Given the description of an element on the screen output the (x, y) to click on. 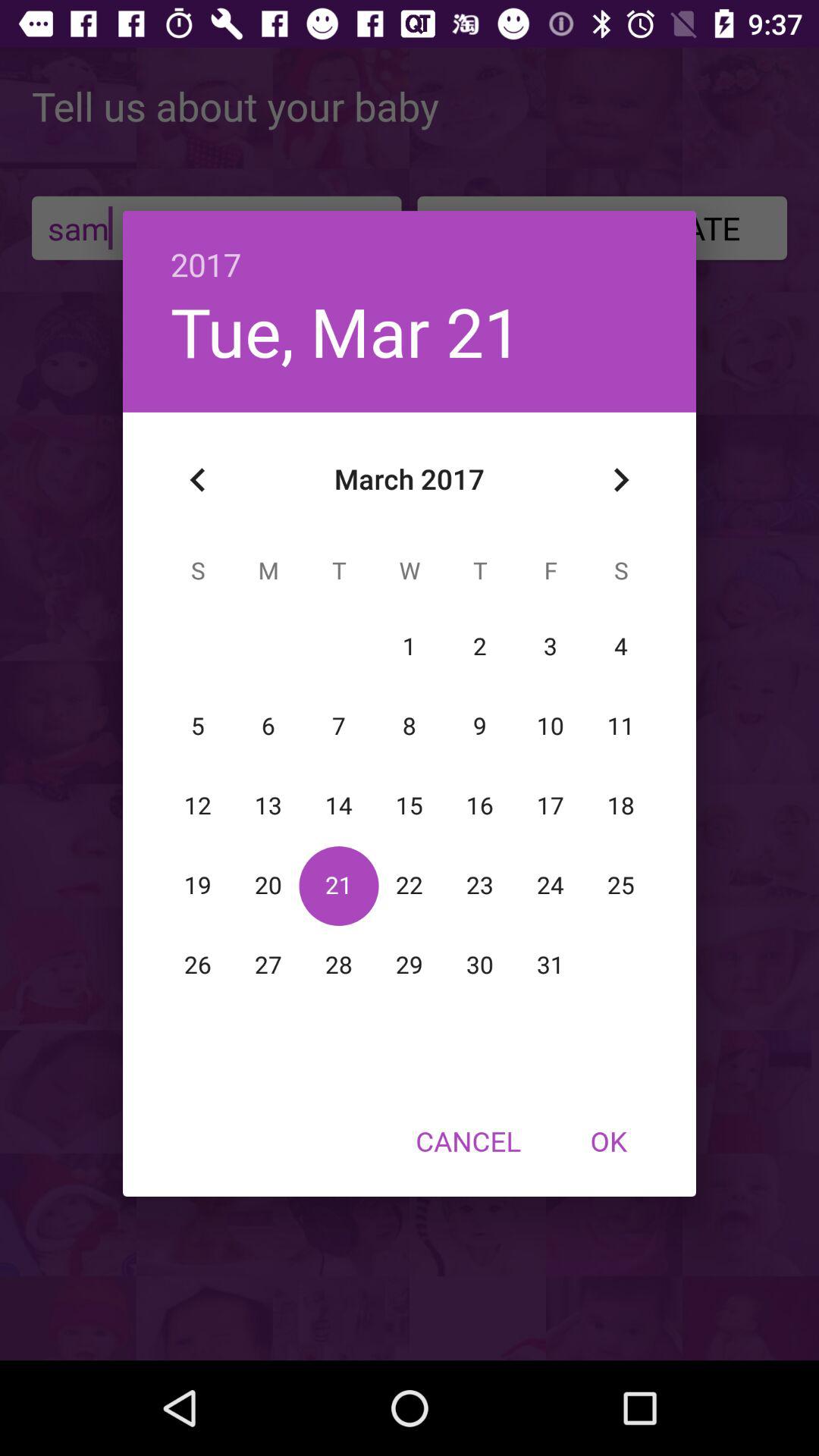
turn on the item at the bottom (467, 1140)
